Given the description of an element on the screen output the (x, y) to click on. 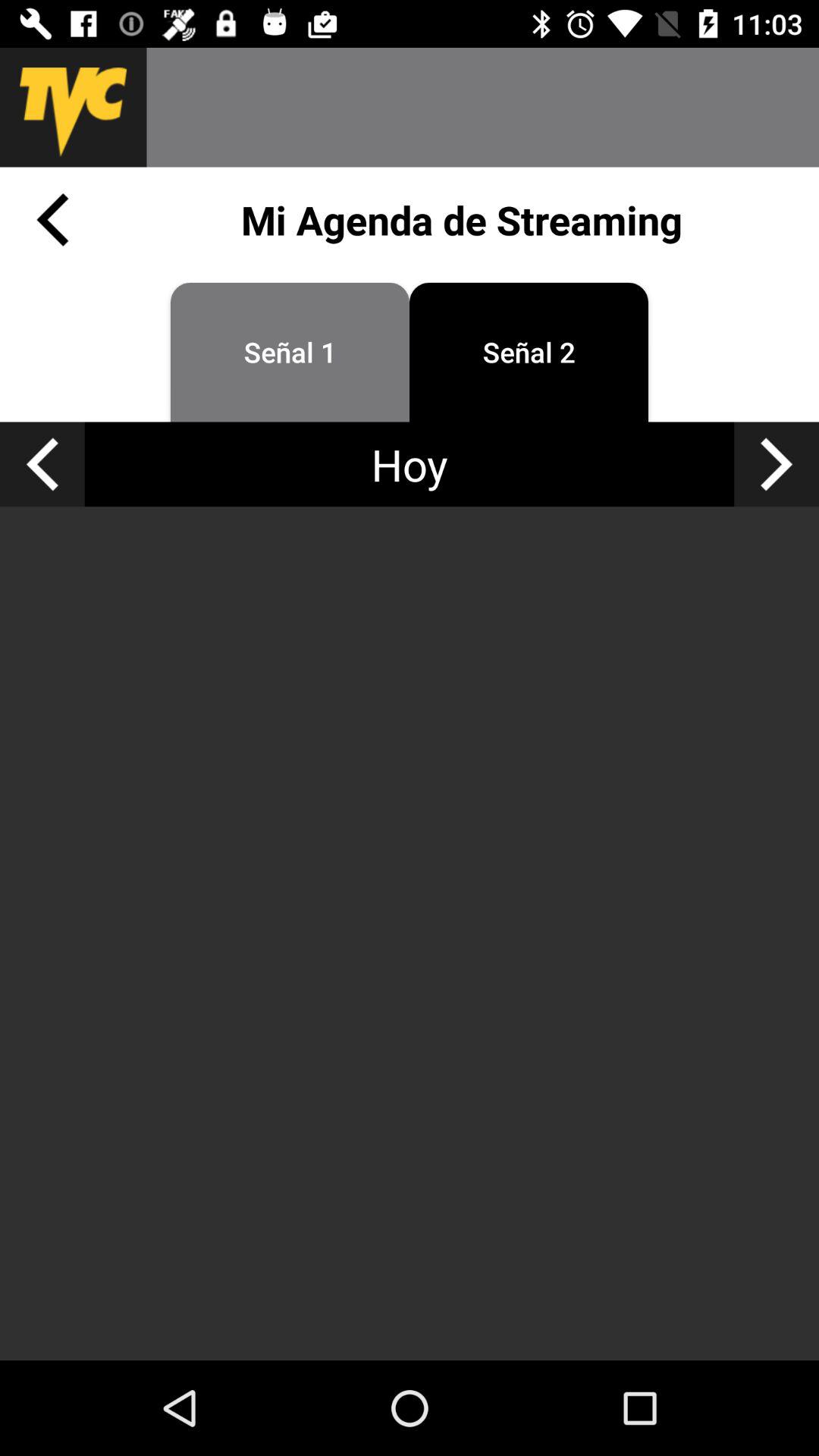
go forward (776, 464)
